Given the description of an element on the screen output the (x, y) to click on. 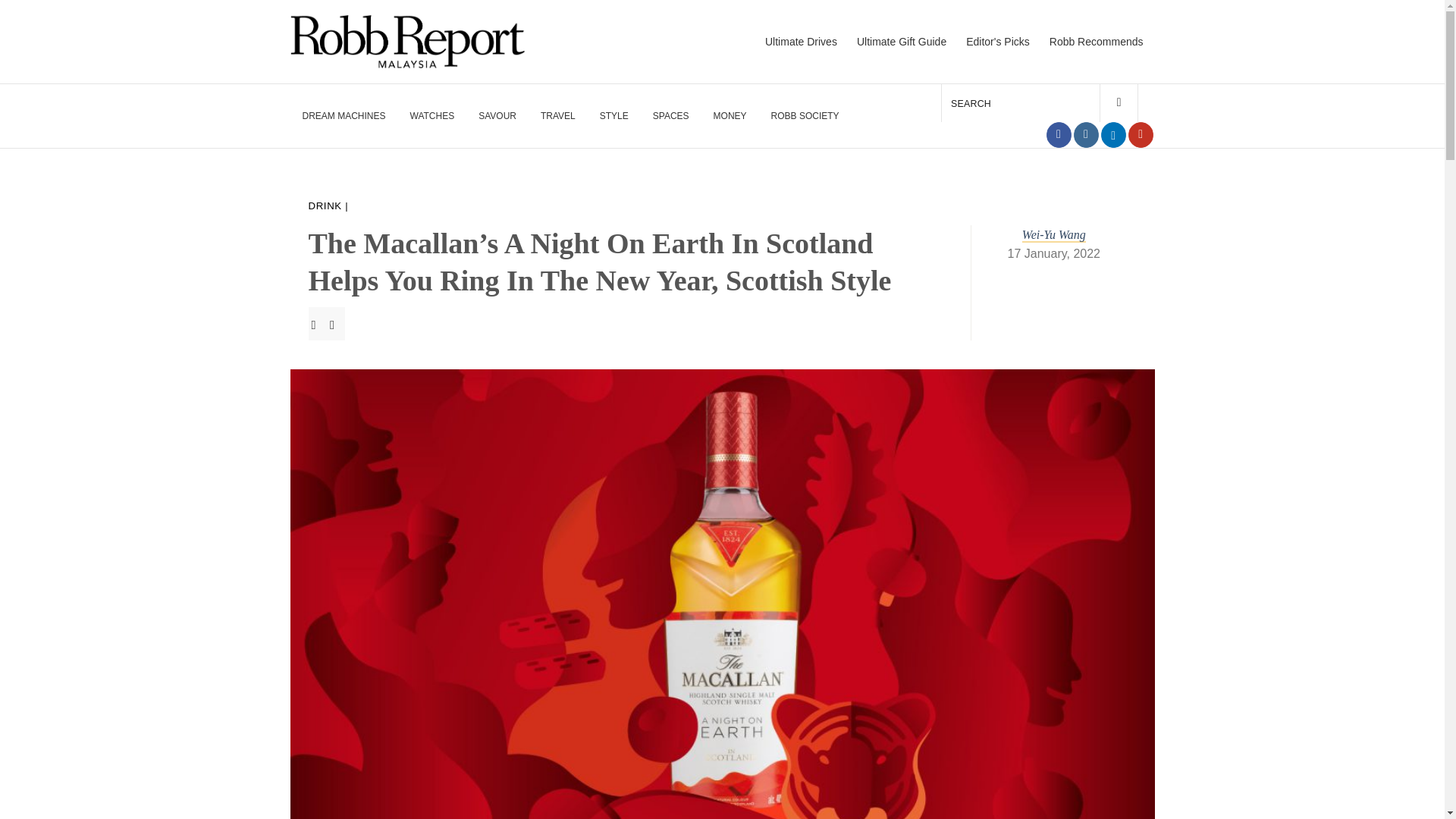
Robb Recommends (1093, 41)
Ultimate Gift Guide (898, 41)
TRAVEL (557, 115)
SAVOUR (497, 115)
SPACES (670, 115)
WATCHES (433, 115)
Editor's Picks (994, 41)
MONEY (730, 115)
STYLE (614, 115)
ROBB SOCIETY (805, 115)
DREAM MACHINES (339, 115)
Ultimate Drives (794, 41)
